Given the description of an element on the screen output the (x, y) to click on. 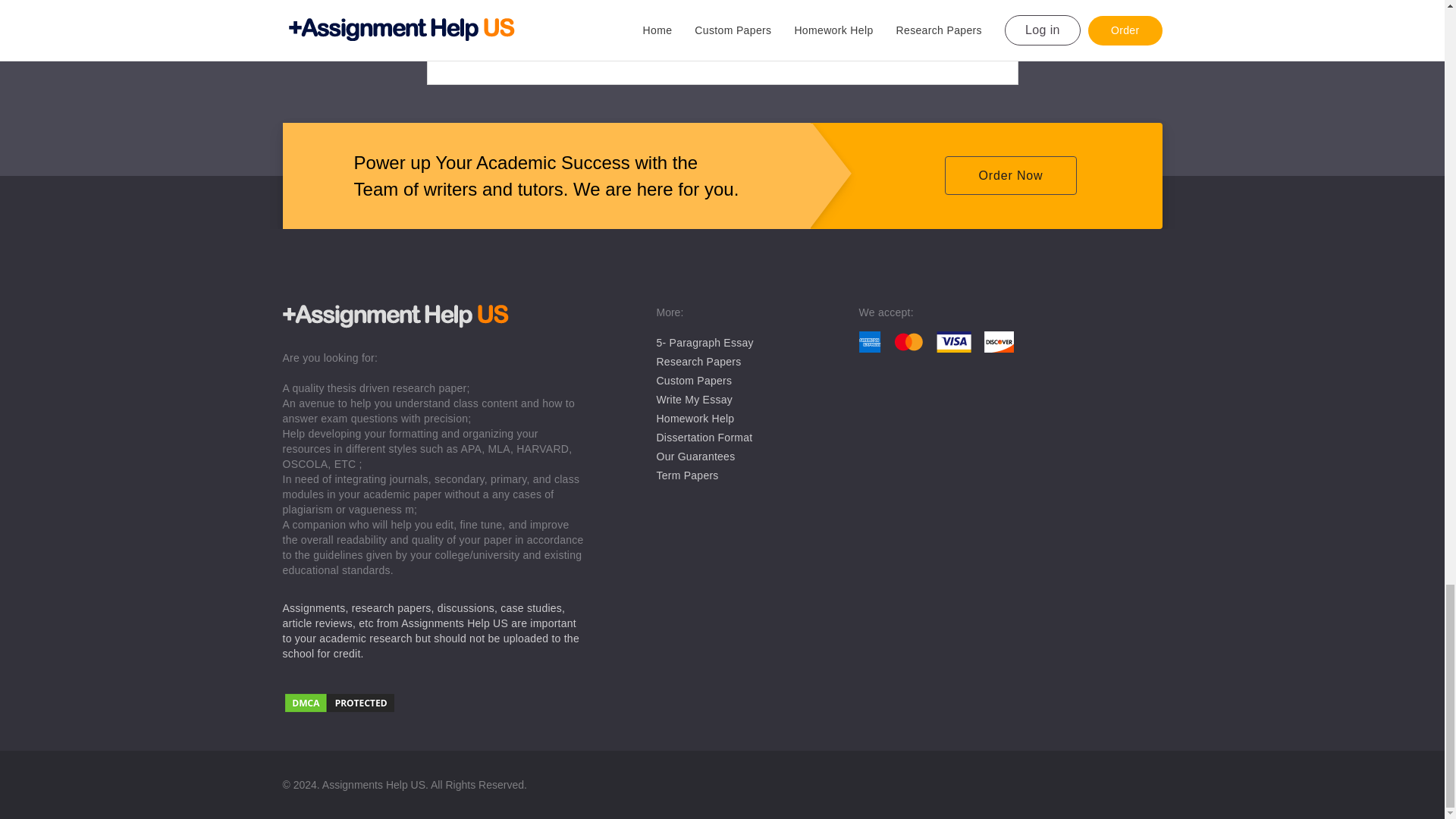
Term Papers (687, 475)
Homework Help (695, 418)
Custom Papers (694, 380)
Order Now (1009, 175)
Write My Essay (694, 399)
Our Guarantees (695, 456)
Research Papers (698, 361)
DMCA.com Protection Status (433, 703)
5- Paragraph Essay (705, 342)
Dissertation Format (704, 437)
